Given the description of an element on the screen output the (x, y) to click on. 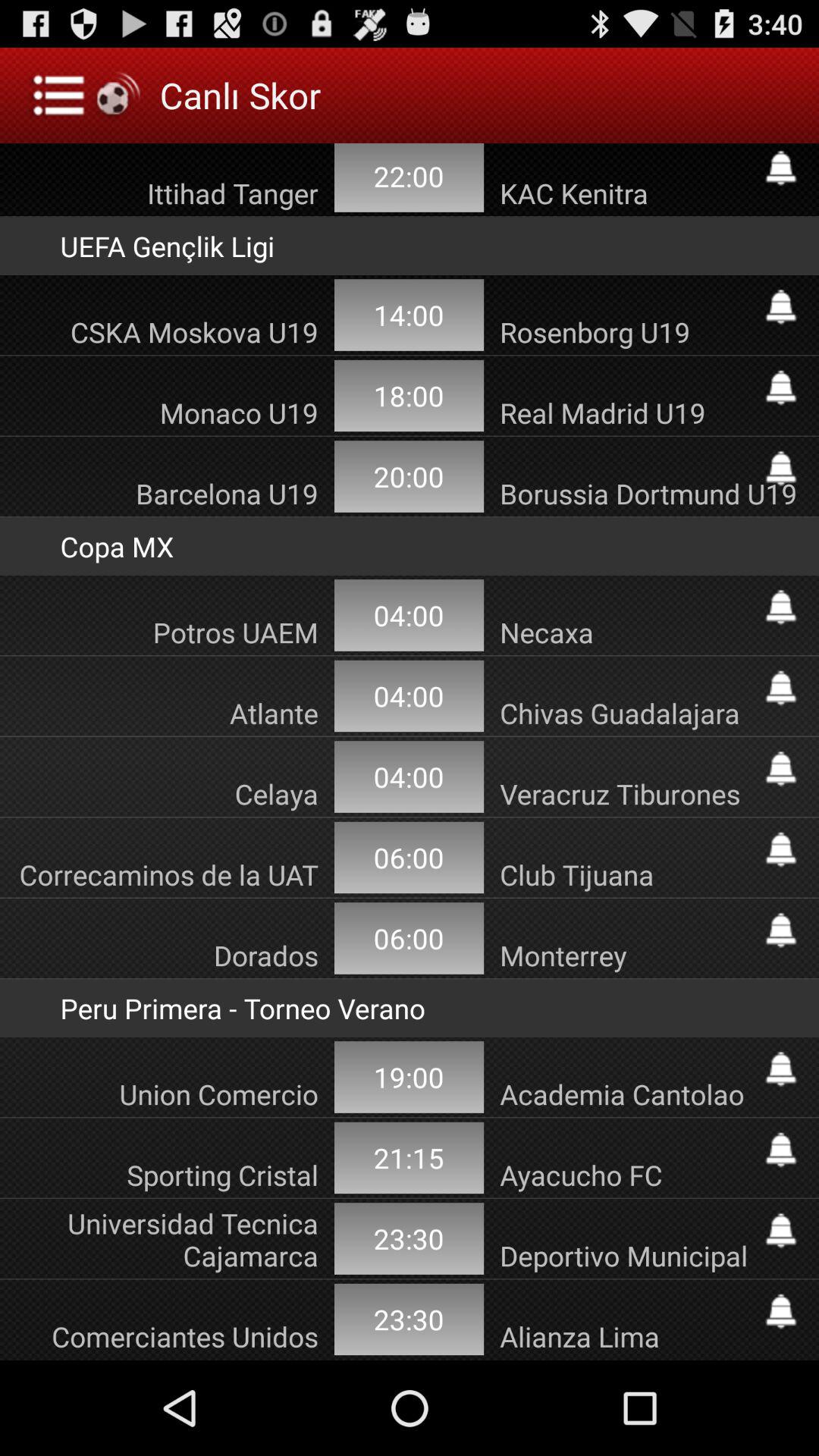
follow the match (780, 1230)
